Given the description of an element on the screen output the (x, y) to click on. 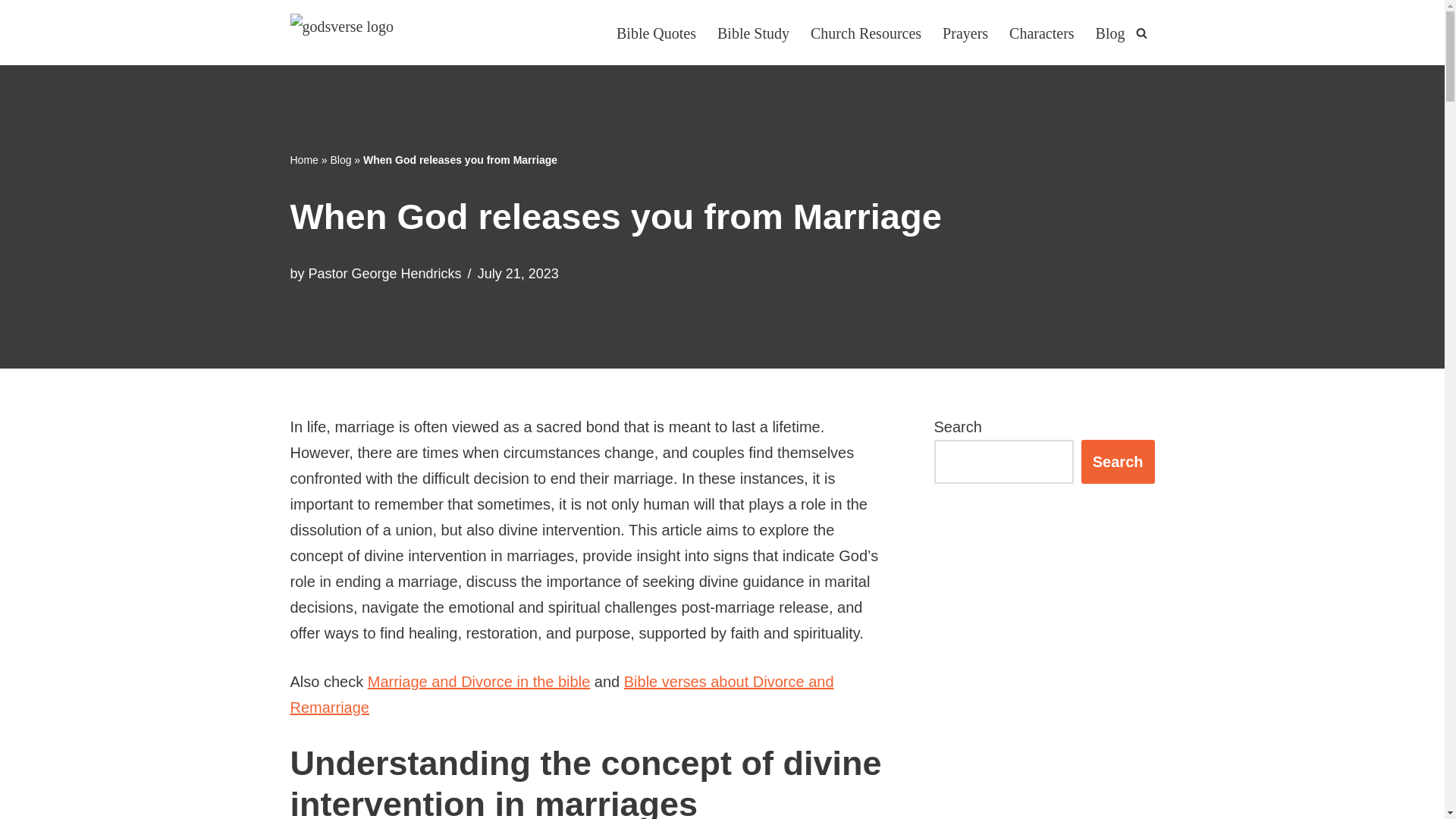
Bible Study (753, 32)
Bible verses about Divorce and Remarriage (560, 694)
Search (1117, 461)
Blog (340, 159)
Posts by Pastor George Hendricks (384, 273)
Bible Quotes (655, 32)
Home (303, 159)
Skip to content (11, 31)
Characters (1041, 32)
Pastor George Hendricks (384, 273)
Blog (1110, 32)
Prayers (965, 32)
Marriage and Divorce in the bible (479, 681)
Church Resources (865, 32)
